Given the description of an element on the screen output the (x, y) to click on. 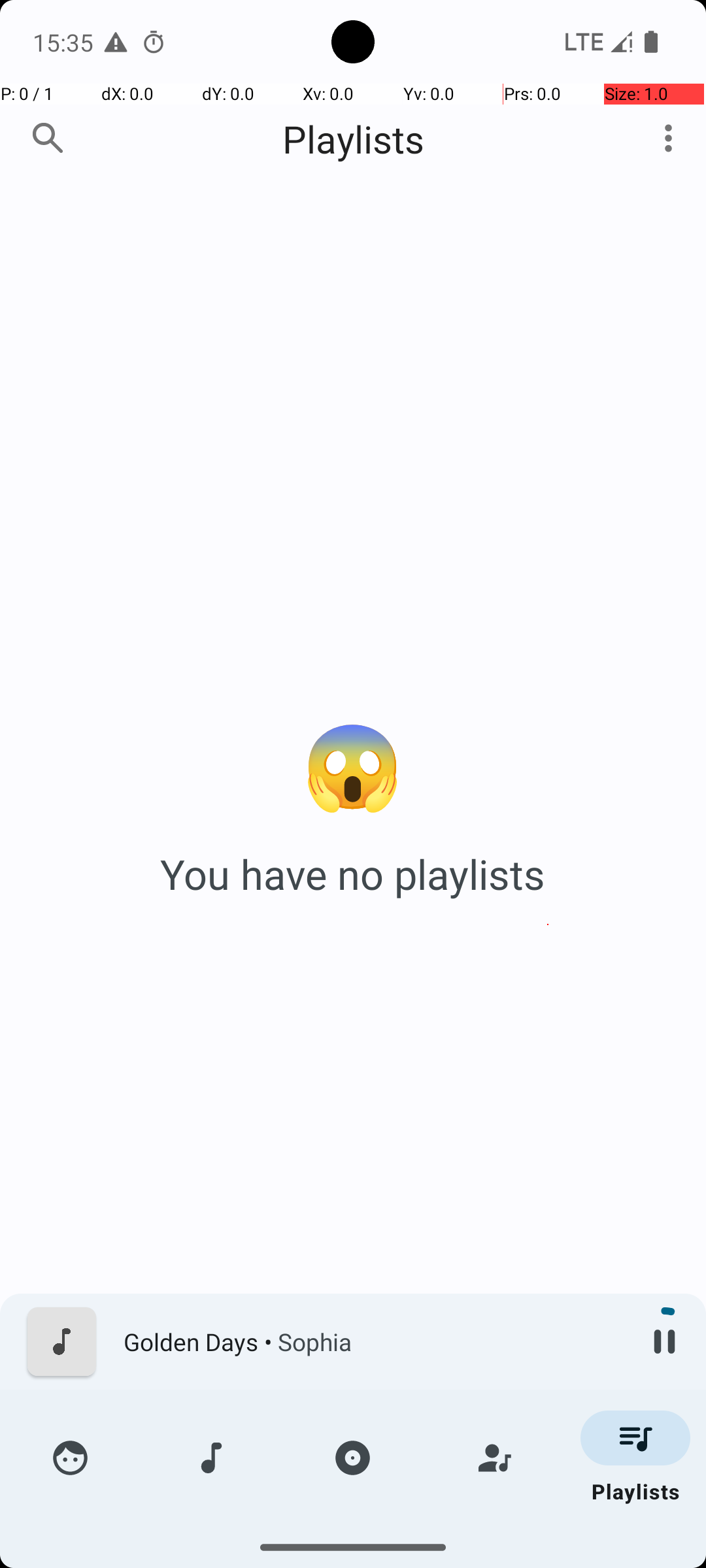
😱 Element type: android.widget.TextView (352, 763)
You have no playlists Element type: android.widget.TextView (352, 873)
Golden Days • Sophia Element type: android.widget.TextView (372, 1341)
